Given the description of an element on the screen output the (x, y) to click on. 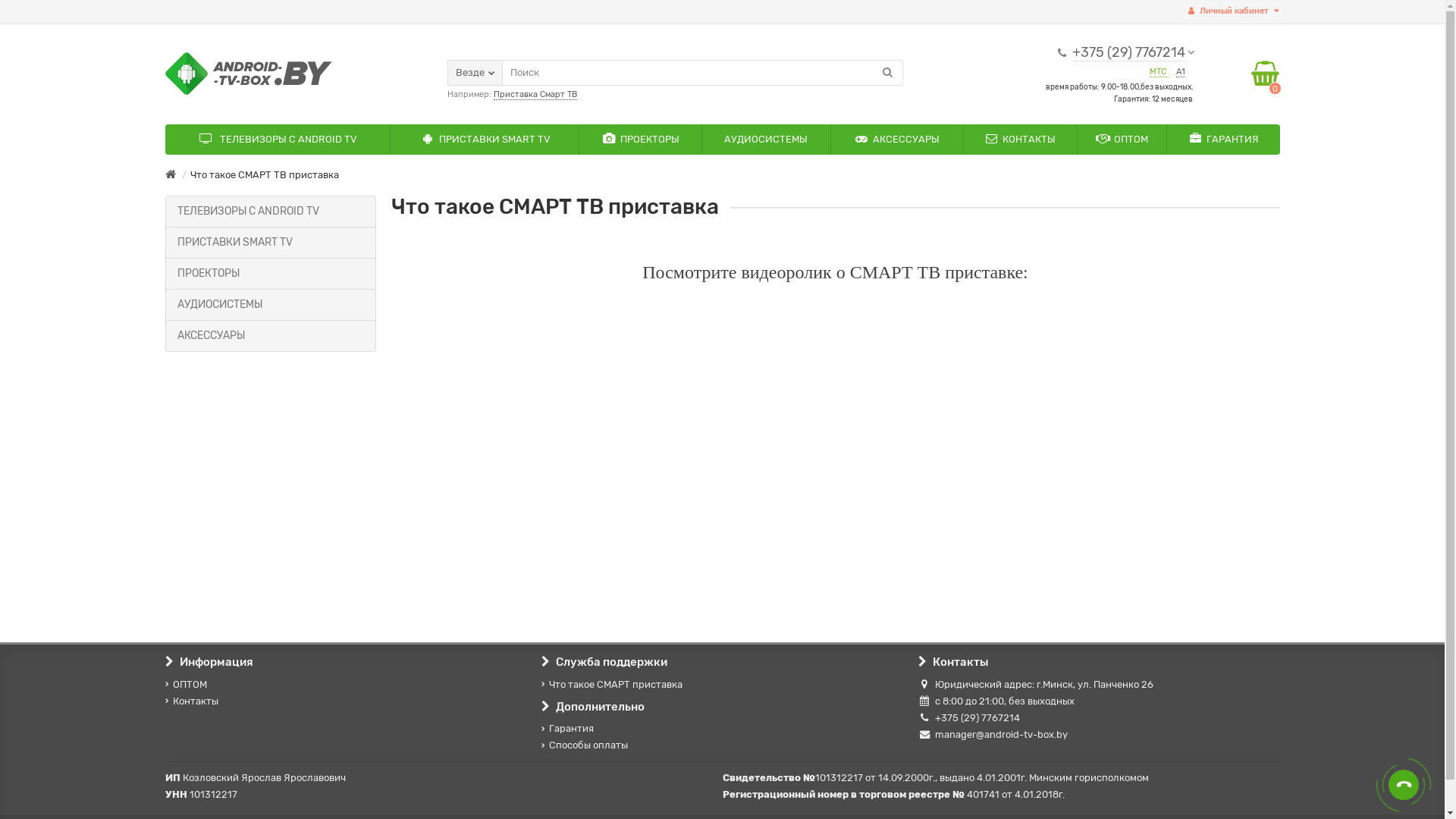
0 Element type: text (1265, 74)
